Given the description of an element on the screen output the (x, y) to click on. 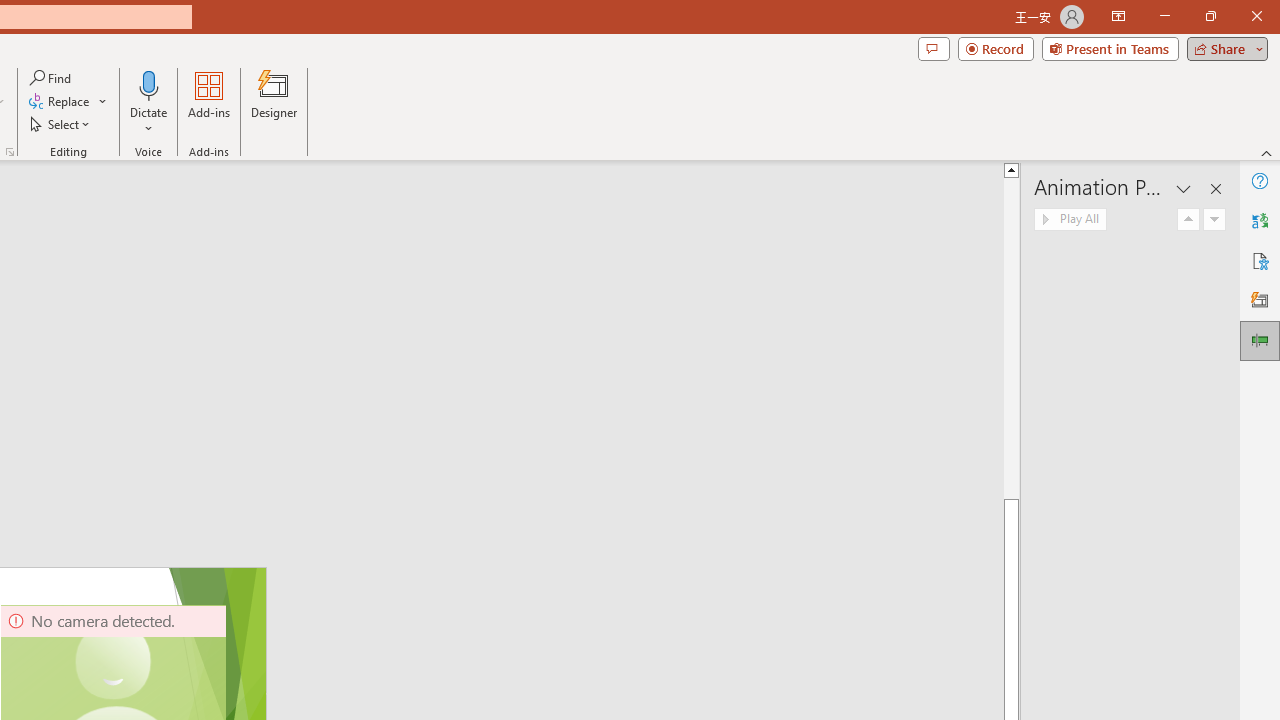
Replace... (68, 101)
